Given the description of an element on the screen output the (x, y) to click on. 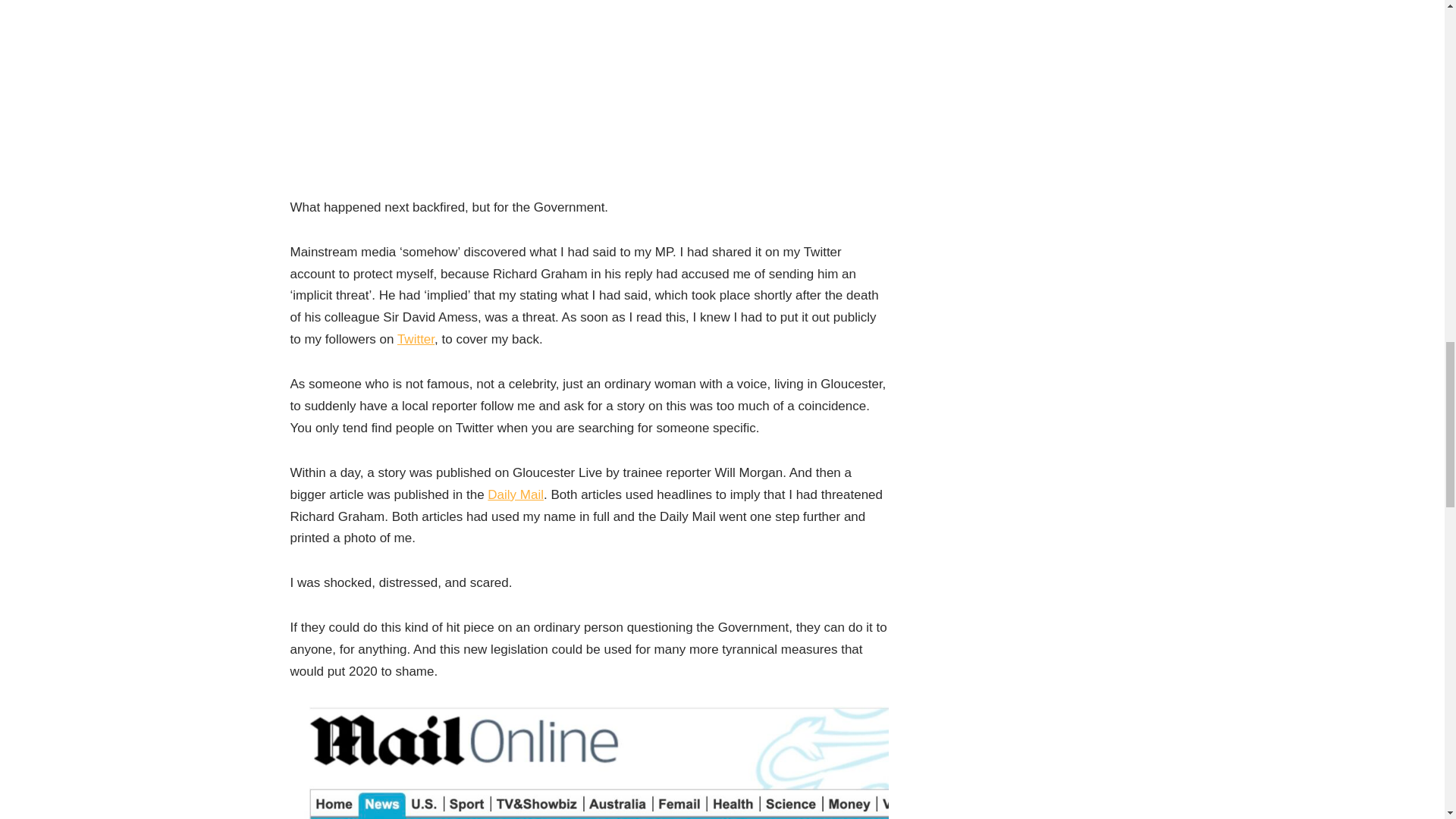
MPs extend the Coronavirus Act without a vote (588, 98)
